Given the description of an element on the screen output the (x, y) to click on. 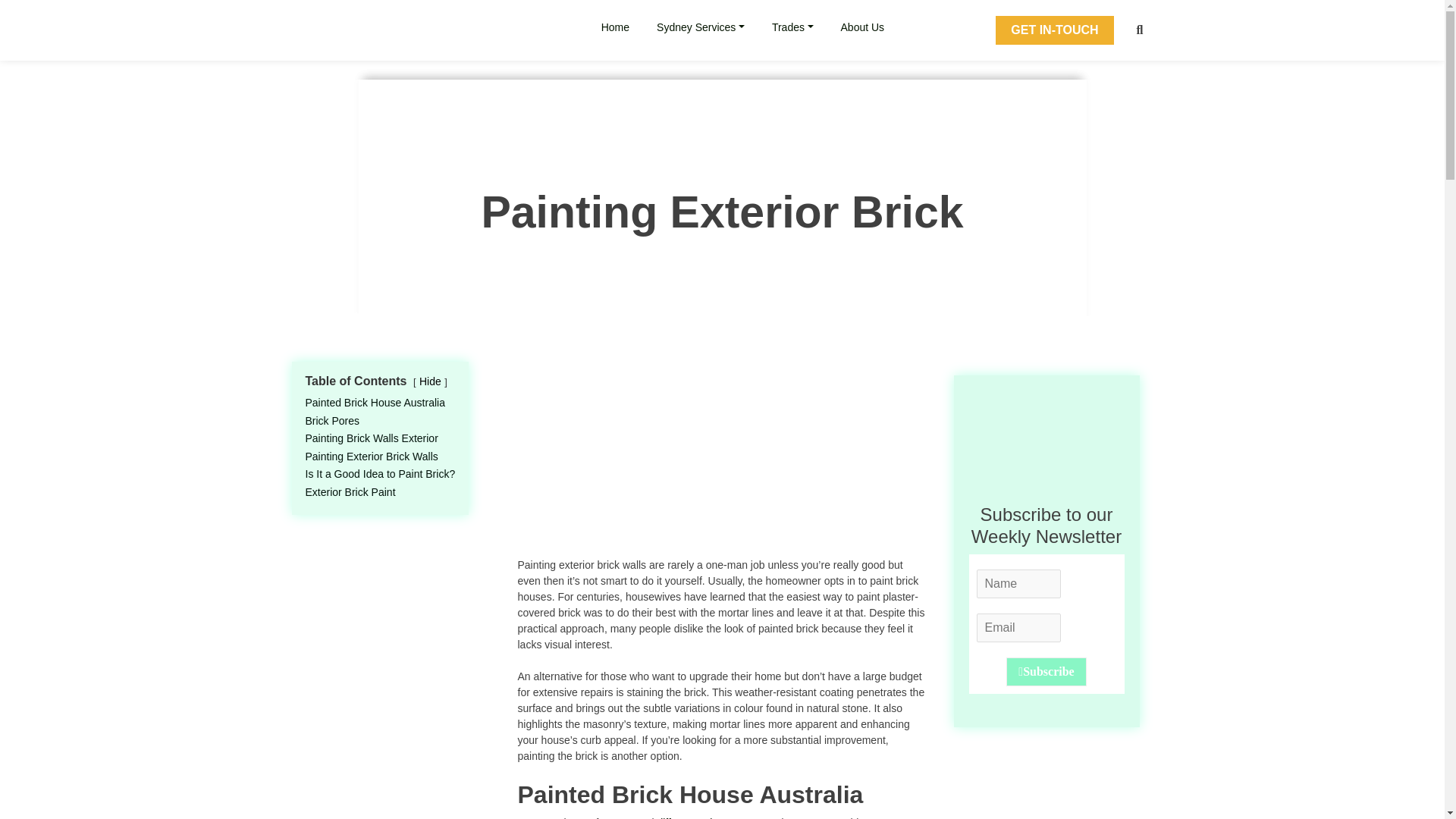
Brick Pores (331, 420)
Painting Brick Walls Exterior (371, 438)
Trades (792, 26)
Is It a Good Idea to Paint Brick? (379, 473)
GET IN-TOUCH (1054, 30)
Hide (430, 381)
GET IN-TOUCH (1065, 30)
Sydney Services (700, 26)
Exterior Brick Paint (349, 491)
Home (614, 26)
Painting Exterior Brick Walls (371, 456)
different paint systems (709, 817)
About Us (862, 26)
Painted Brick House Australia (374, 402)
Subscribe (1046, 671)
